Given the description of an element on the screen output the (x, y) to click on. 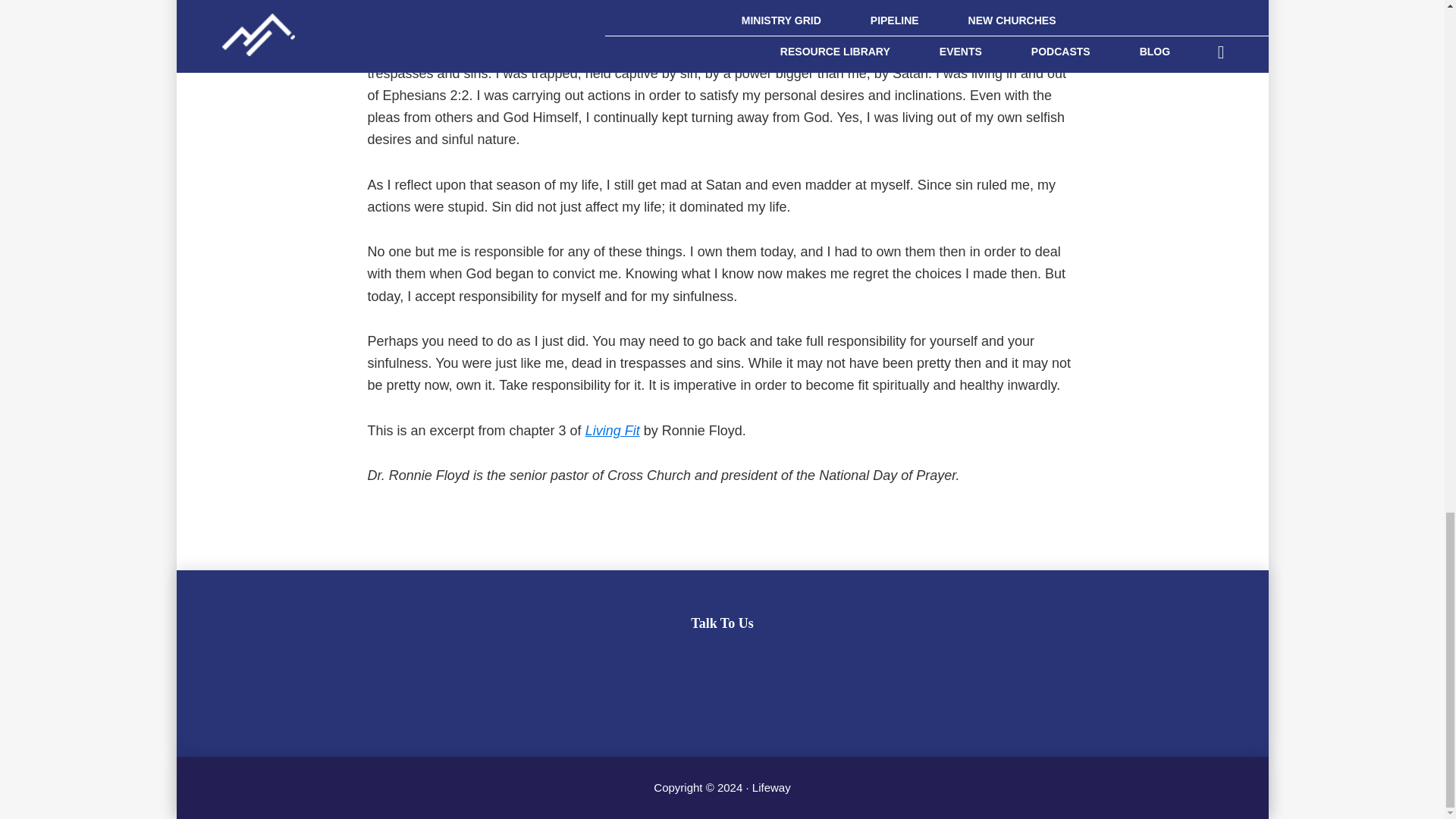
Living Fit (612, 430)
